Given the description of an element on the screen output the (x, y) to click on. 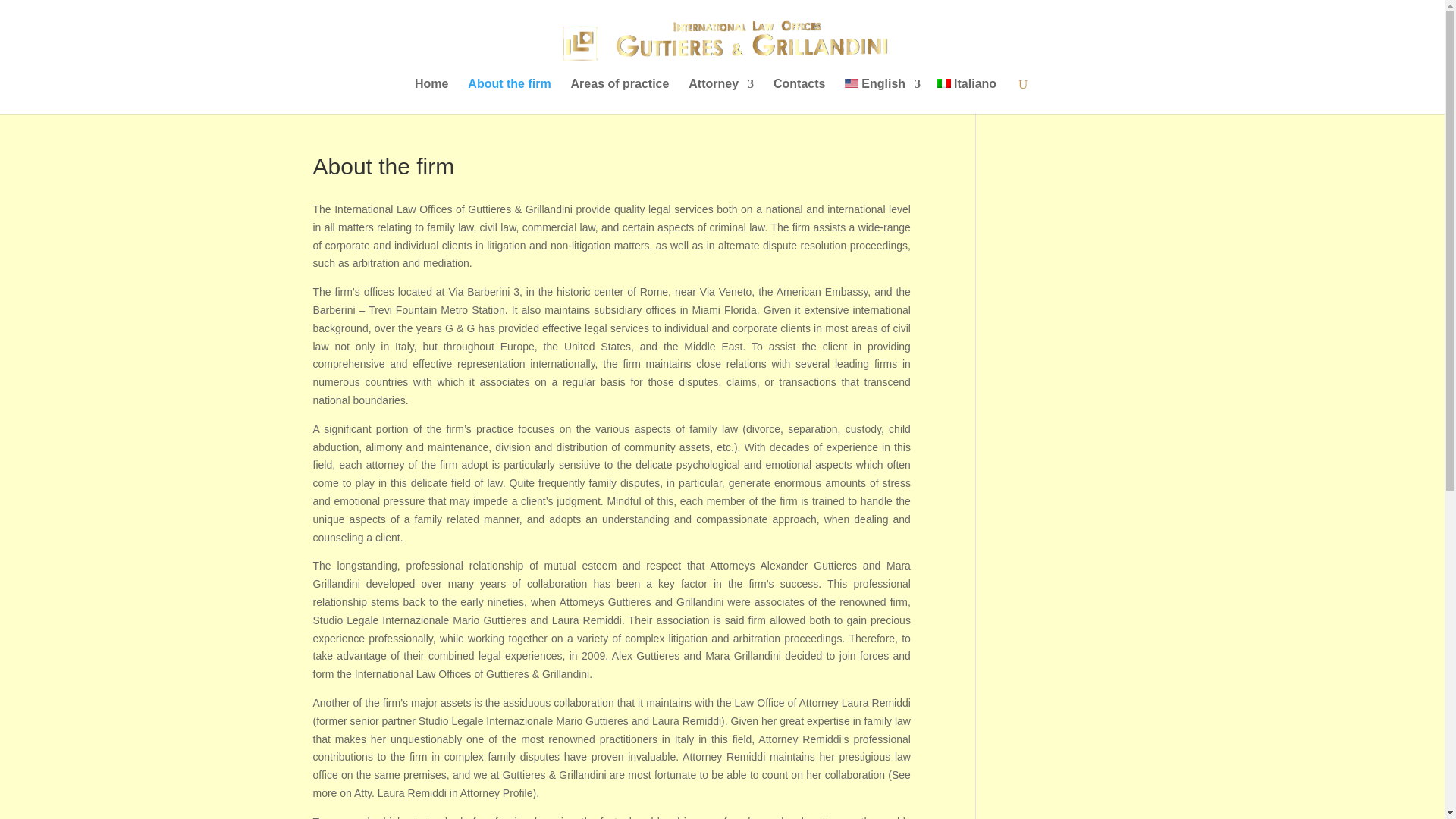
Areas of practice (619, 95)
English (851, 82)
Italiano (966, 95)
Home (431, 95)
English (882, 95)
About the firm (508, 95)
Contacts (799, 95)
Attorney (721, 95)
Italiano (943, 82)
